Given the description of an element on the screen output the (x, y) to click on. 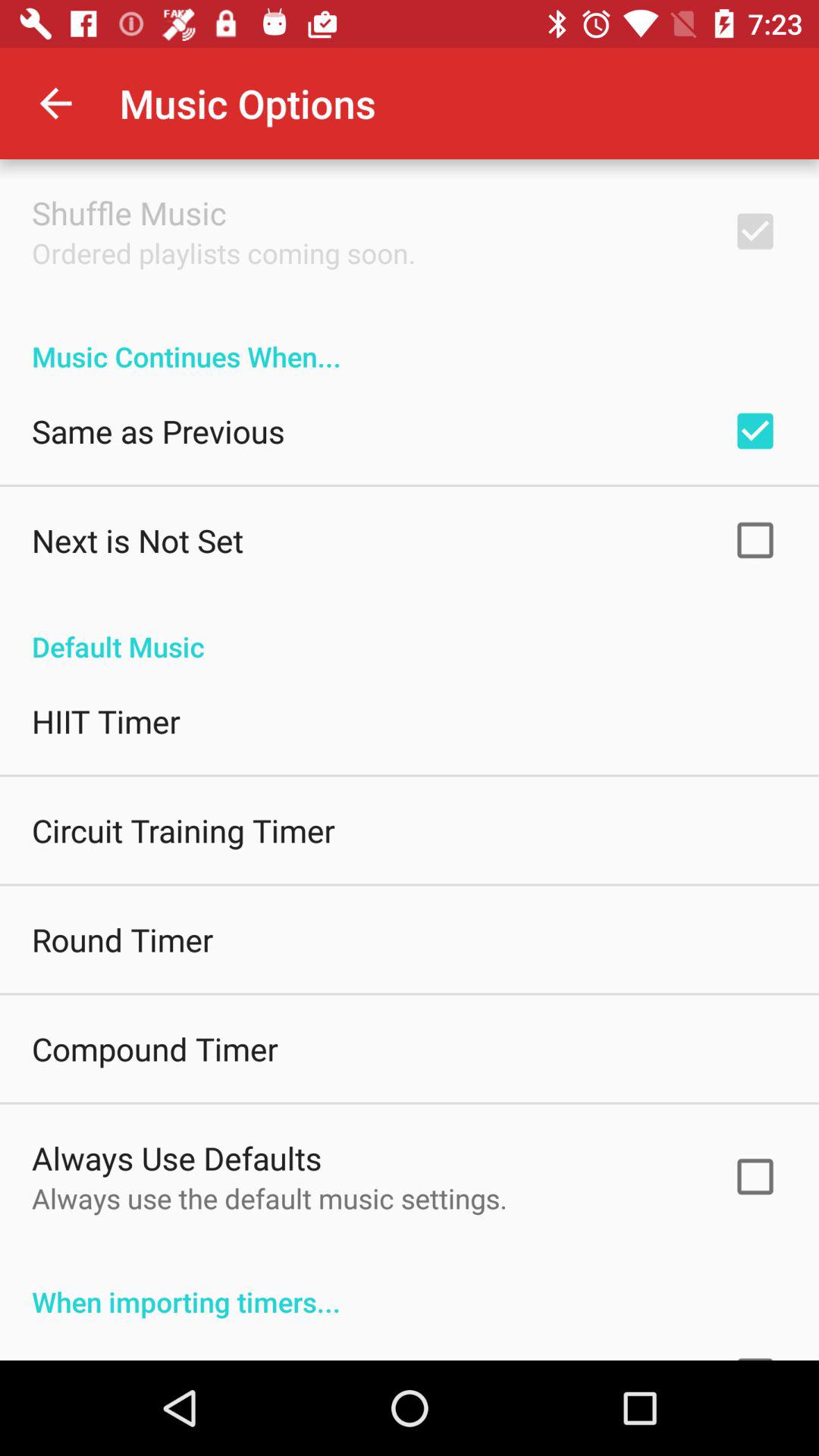
select the check box which is right to always use  defaults (755, 1176)
